Given the description of an element on the screen output the (x, y) to click on. 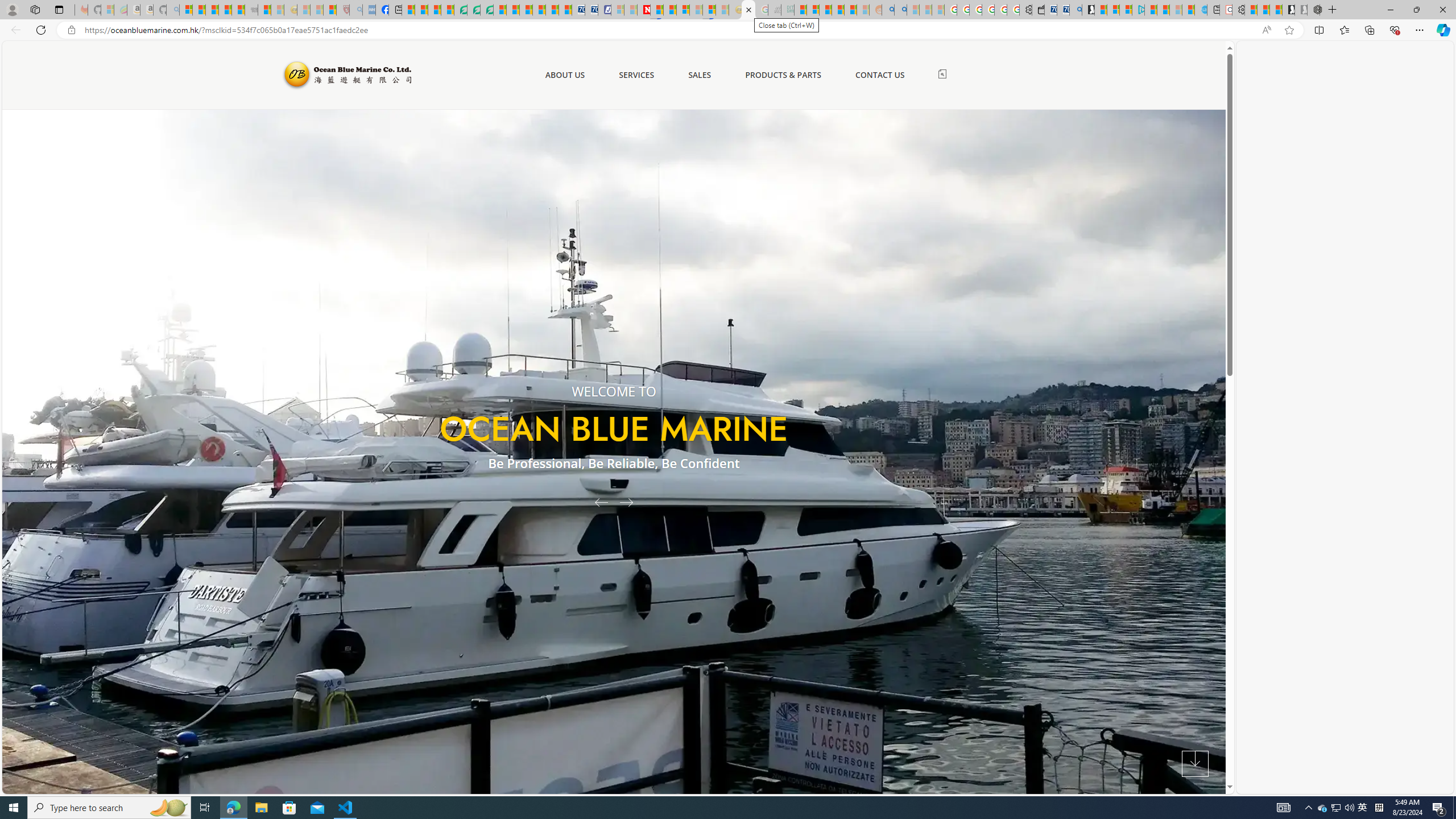
SERVICES (636, 74)
Bing Real Estate - Home sales and rental listings (1075, 9)
